Given the description of an element on the screen output the (x, y) to click on. 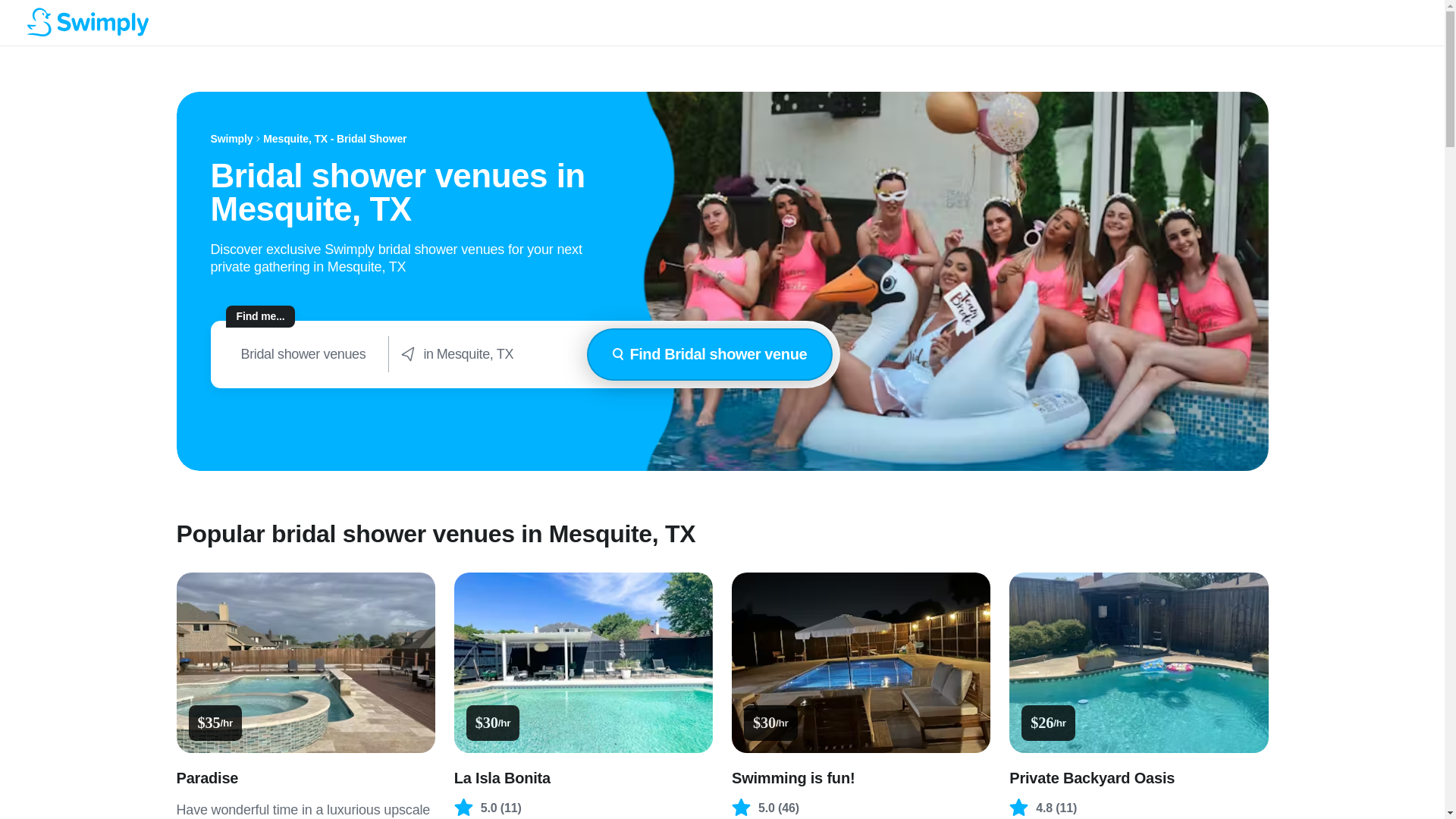
Bridal shower venues (303, 354)
Mesquite, TX - Bridal Shower (334, 138)
Find Bridal shower venue (709, 354)
Swimply (232, 138)
